Given the description of an element on the screen output the (x, y) to click on. 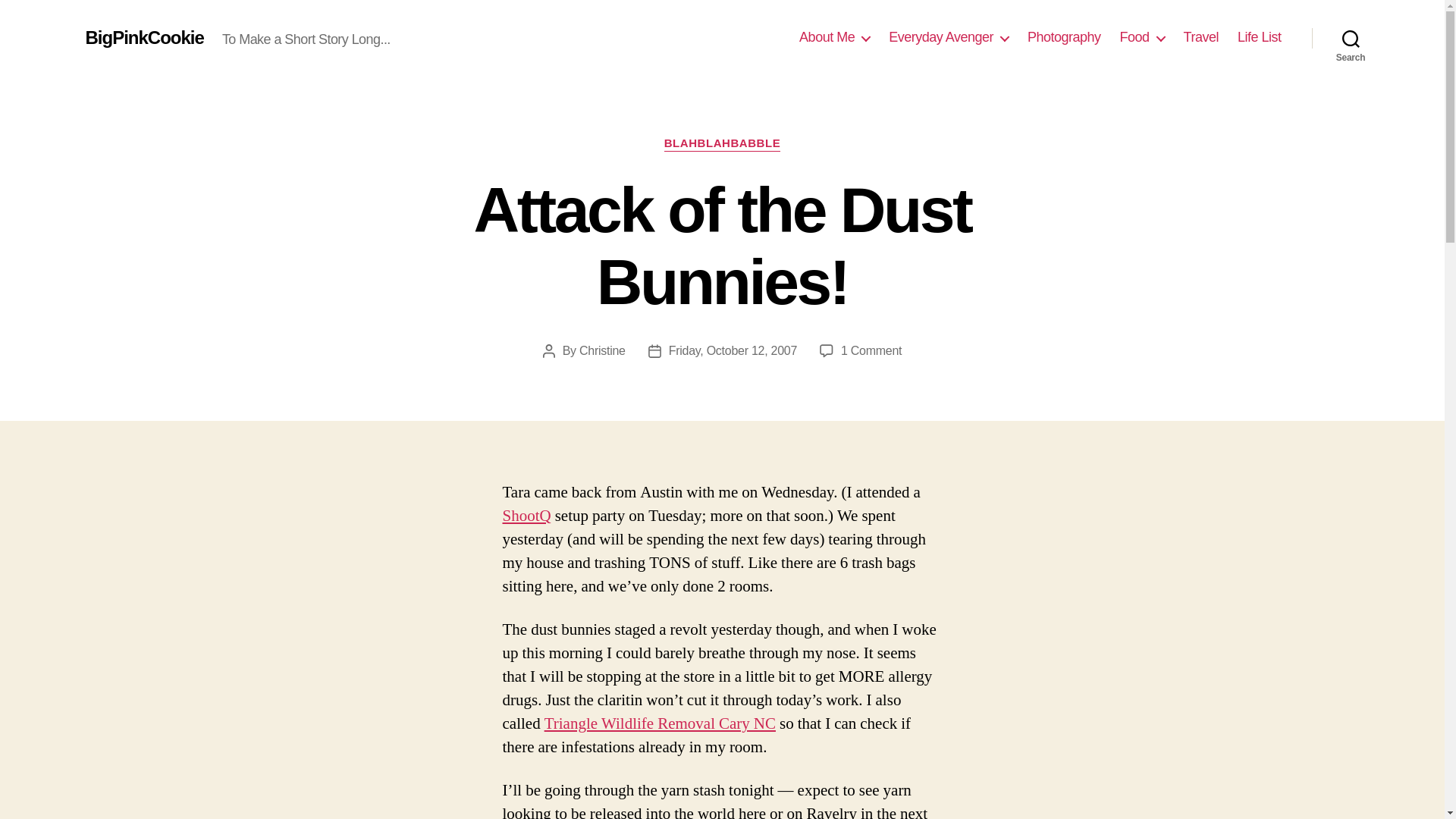
Friday, October 12, 2007 (732, 350)
Everyday Avenger (948, 37)
Photography (1063, 37)
Food (1141, 37)
Travel (1200, 37)
Life List (1259, 37)
BLAHBLAHBABBLE (721, 143)
About Me (834, 37)
Search (1350, 37)
BigPinkCookie (143, 37)
Christine (602, 350)
